Given the description of an element on the screen output the (x, y) to click on. 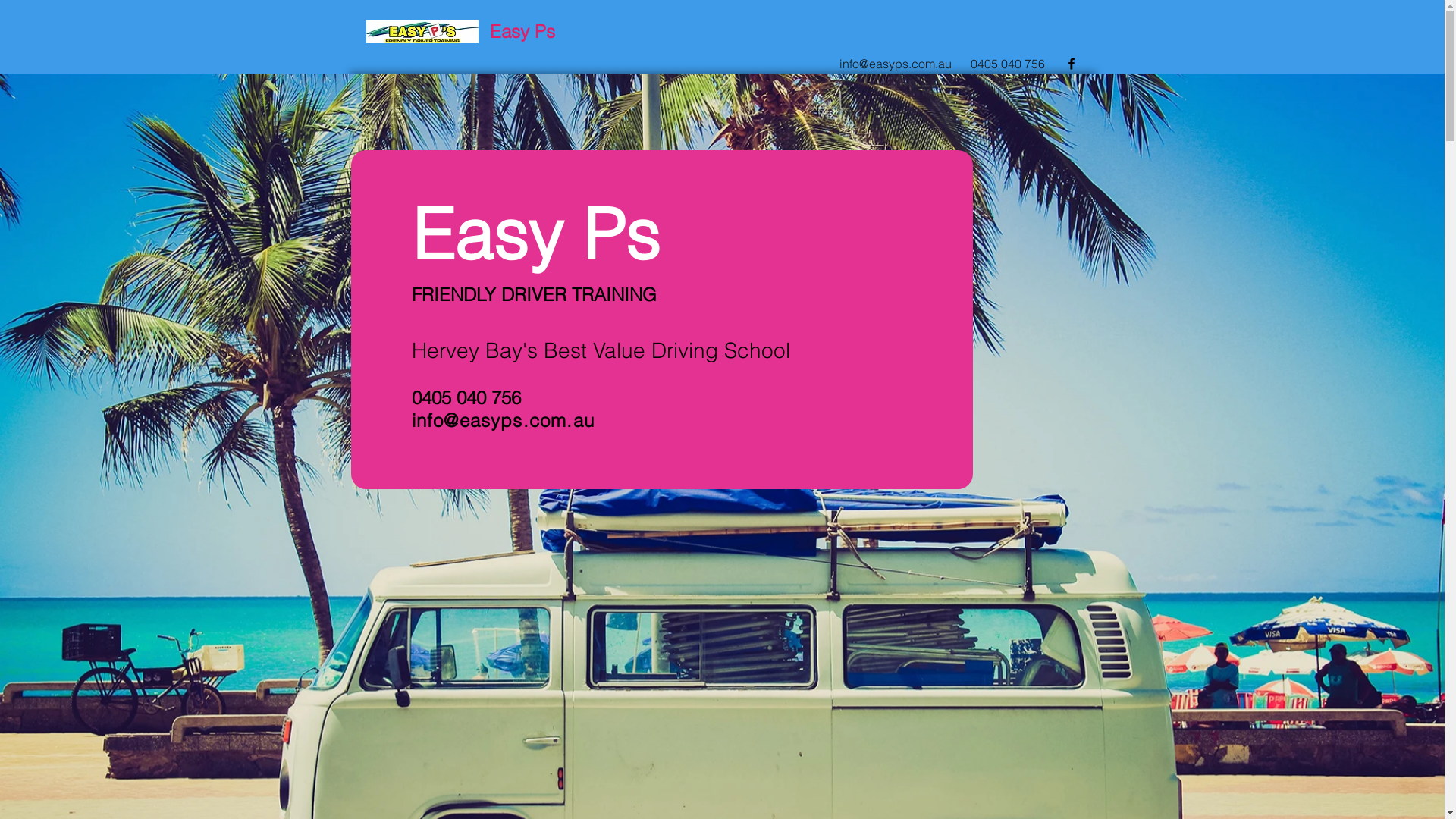
info@easyps.com.au Element type: text (502, 420)
info@easyps.com.au Element type: text (894, 63)
